Given the description of an element on the screen output the (x, y) to click on. 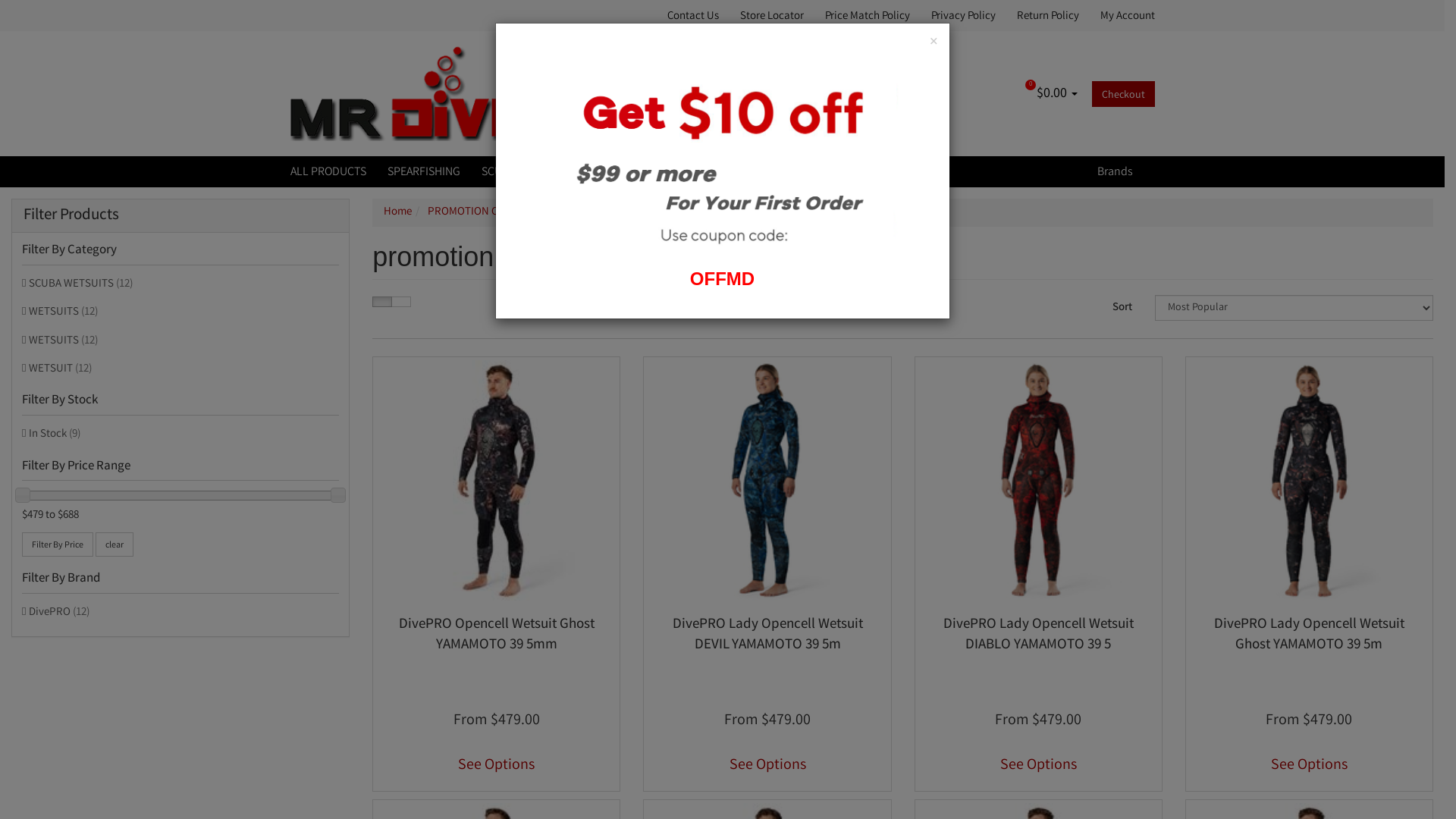
Price Match Policy Element type: text (867, 15)
Filter By Price Element type: text (57, 544)
SCUBA WETSUITS (12) Element type: text (179, 283)
SPORTUBE Element type: text (561, 171)
Mr Dive Element type: hover (410, 93)
Filter Products Element type: text (180, 215)
DivePRO Lady Opencell Wetsuit DIABLO YAMAMOTO 39 5 Element type: text (1038, 634)
WETSUITS (12) Element type: text (179, 312)
Search Element type: text (922, 92)
Store Locator Element type: text (771, 15)
Home Element type: text (397, 211)
clear Element type: text (114, 544)
PROMOTION CATEGORY Element type: text (484, 211)
DivePRO Opencell Wetsuit Ghost YAMAMOTO 39 5mm Element type: text (496, 634)
My Account Element type: text (1121, 15)
promotion category---wetsuit 5mm Element type: text (641, 211)
See Options Element type: text (495, 764)
DivePRO (12) Element type: text (179, 612)
See Options Element type: text (1308, 764)
SCUBA Element type: text (497, 171)
Brands Element type: text (1119, 171)
See Options Element type: text (1038, 764)
WETSUITS (12) Element type: text (179, 340)
EOFY 2023 Element type: text (636, 171)
In Stock (9) Element type: text (179, 434)
SPEARFISHING Element type: text (423, 171)
See Options Element type: text (766, 764)
Contact Us Element type: text (698, 15)
DivePRO Lady Opencell Wetsuit Ghost YAMAMOTO 39 5m Element type: text (1309, 634)
Checkout Element type: text (1123, 93)
Privacy Policy Element type: text (963, 15)
0
$0.00 Element type: text (1057, 93)
ALL PRODUCTS Element type: text (332, 171)
DivePRO Lady Opencell Wetsuit DEVIL YAMAMOTO 39 5m Element type: text (767, 634)
WETSUIT (12) Element type: text (179, 368)
Return Policy Element type: text (1046, 15)
